Given the description of an element on the screen output the (x, y) to click on. 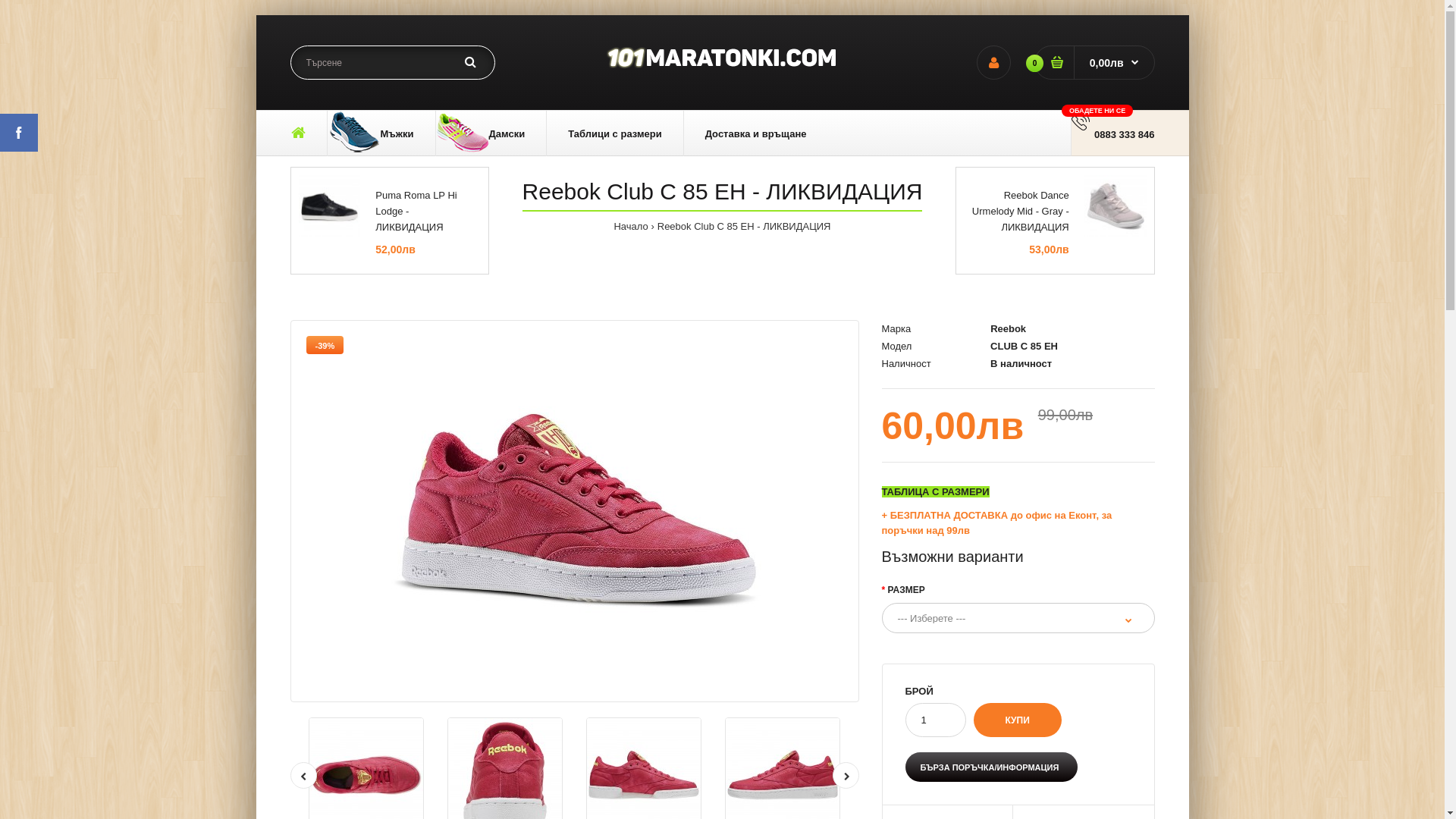
101maratonki.com Element type: hover (722, 58)
Reebok Element type: text (1008, 328)
